Given the description of an element on the screen output the (x, y) to click on. 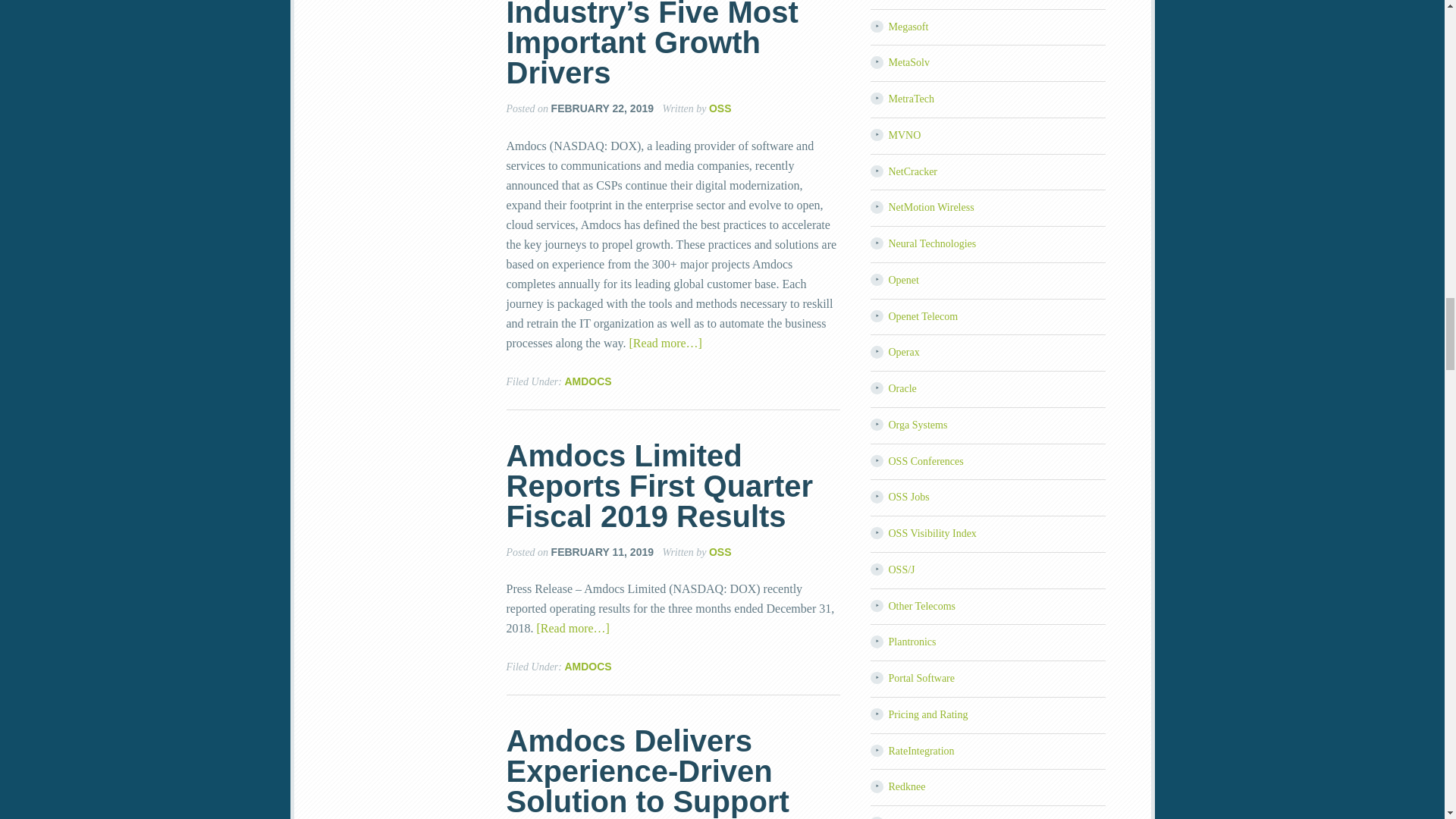
OSS (720, 551)
AMDOCS (587, 666)
AMDOCS (587, 381)
Amdocs Limited Reports First Quarter Fiscal 2019 Results (659, 485)
OSS (720, 108)
